Given the description of an element on the screen output the (x, y) to click on. 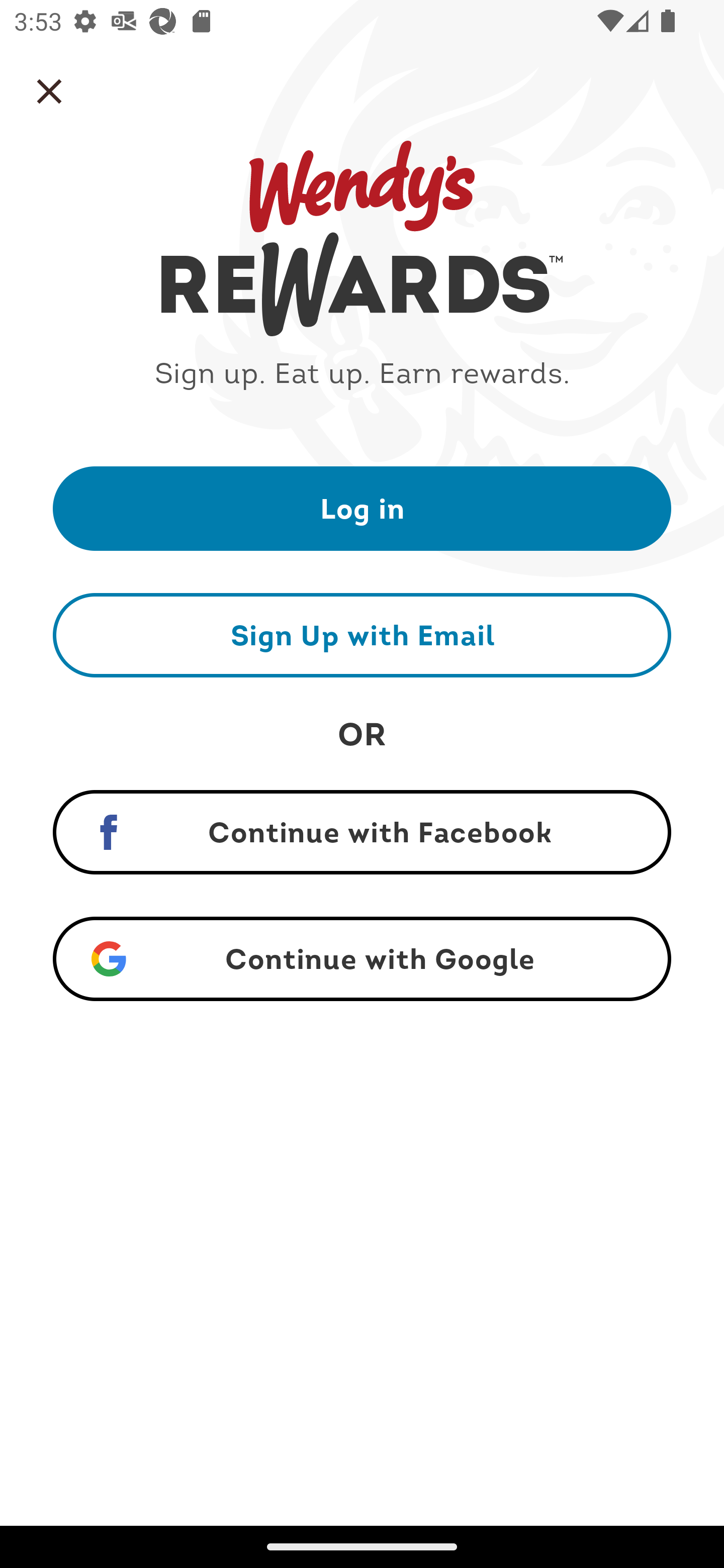
close (49, 91)
Log in (361, 507)
Sign Up with Email (361, 634)
Continue with Facebook (361, 832)
Continue with Google (361, 958)
